Given the description of an element on the screen output the (x, y) to click on. 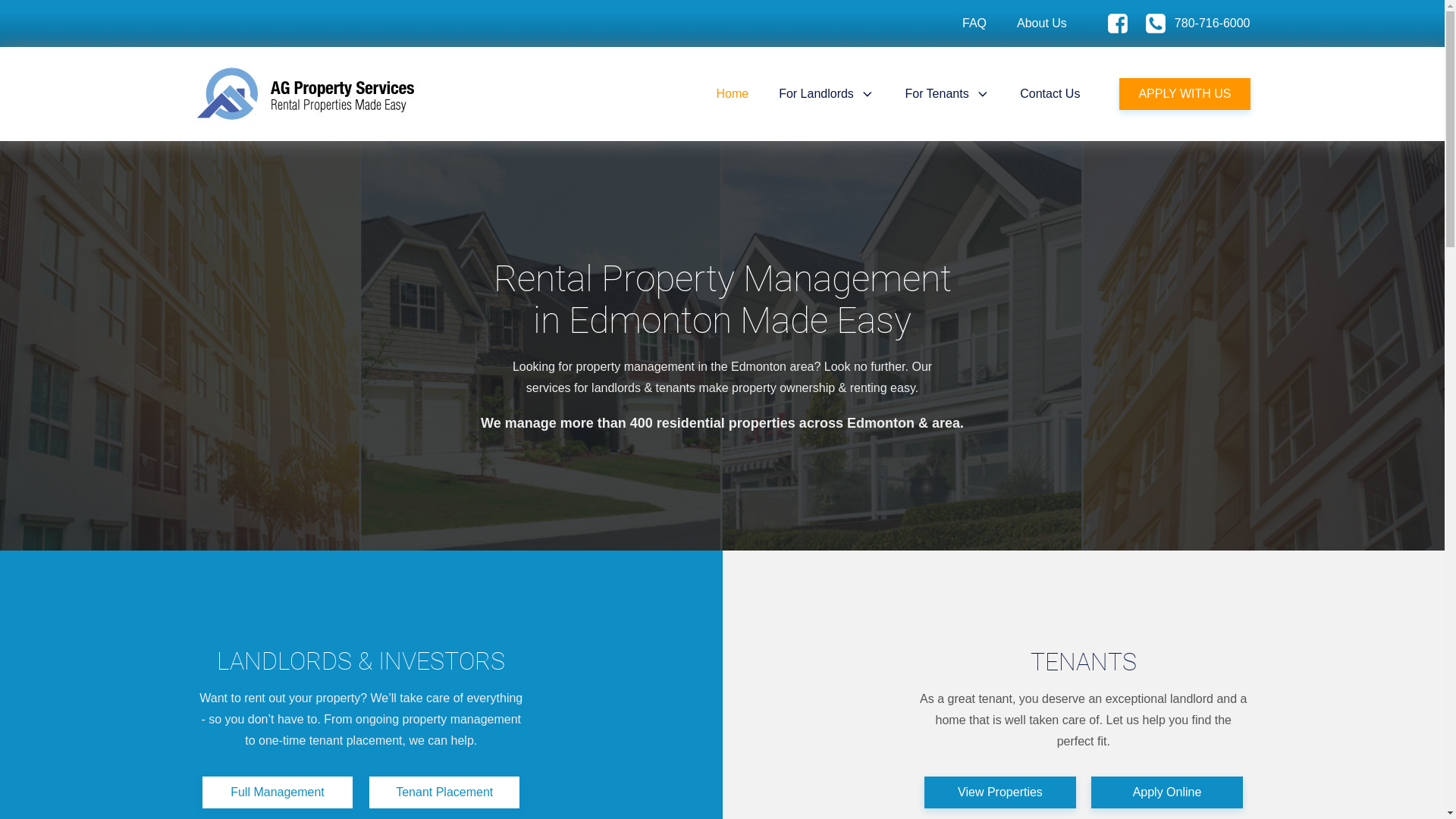
Apply Online Element type: text (1166, 792)
Contact Us Element type: text (1049, 93)
About Us Element type: text (1041, 23)
Home Element type: text (731, 93)
For Tenants Element type: text (946, 93)
View Properties Element type: text (1000, 792)
APPLY WITH US Element type: text (1184, 93)
FAQ Element type: text (974, 23)
780-716-6000 Element type: text (1197, 23)
Full Management Element type: text (277, 792)
Tenant Placement Element type: text (444, 792)
For Landlords Element type: text (826, 93)
